Given the description of an element on the screen output the (x, y) to click on. 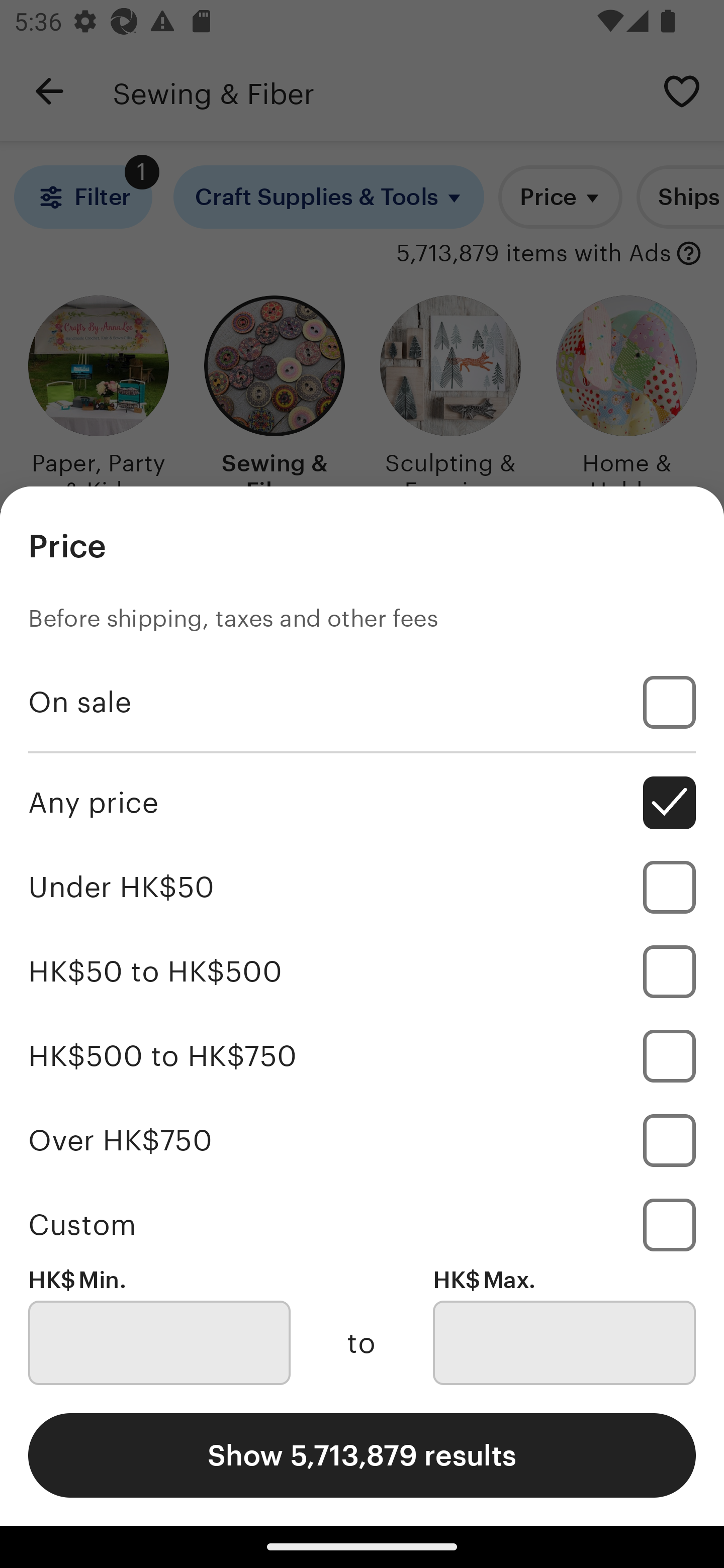
On sale (362, 702)
Any price (362, 802)
Under HK$50 (362, 887)
HK$50 to HK$500 (362, 970)
HK$500 to HK$750 (362, 1054)
Over HK$750 (362, 1139)
Custom (362, 1224)
Show 5,713,879 results (361, 1454)
